Given the description of an element on the screen output the (x, y) to click on. 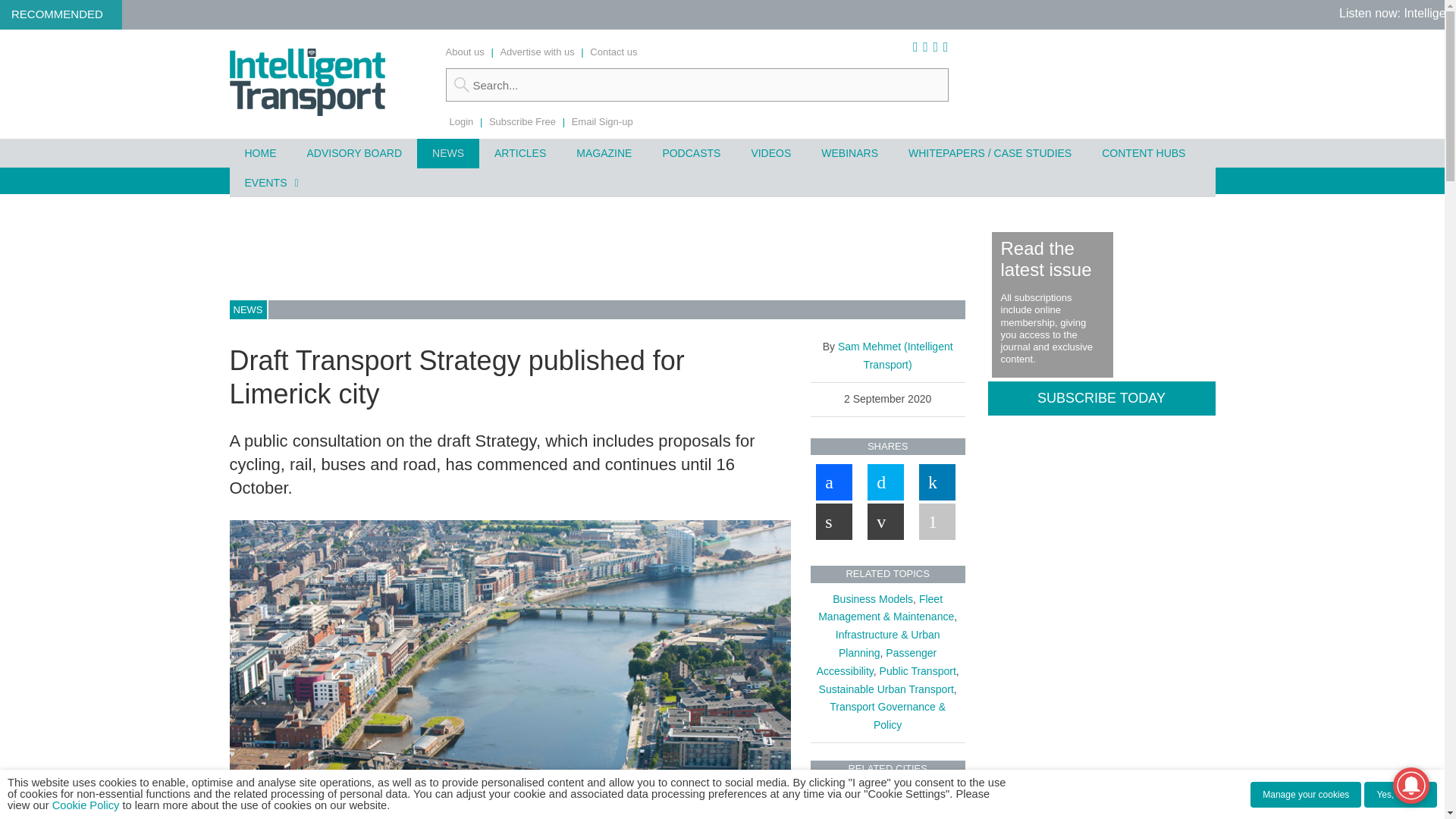
NEWS (447, 152)
close (440, 813)
WEBINARS (849, 152)
Login (460, 121)
VIDEOS (770, 152)
Login (460, 121)
Subscribe Free (522, 121)
CONTENT HUBS (1142, 152)
HOME (259, 152)
Advertise with us (536, 51)
ADVISORY BOARD (353, 152)
Subscribe Free (522, 121)
ARTICLES (519, 152)
Contact us (613, 51)
About us (464, 51)
